Given the description of an element on the screen output the (x, y) to click on. 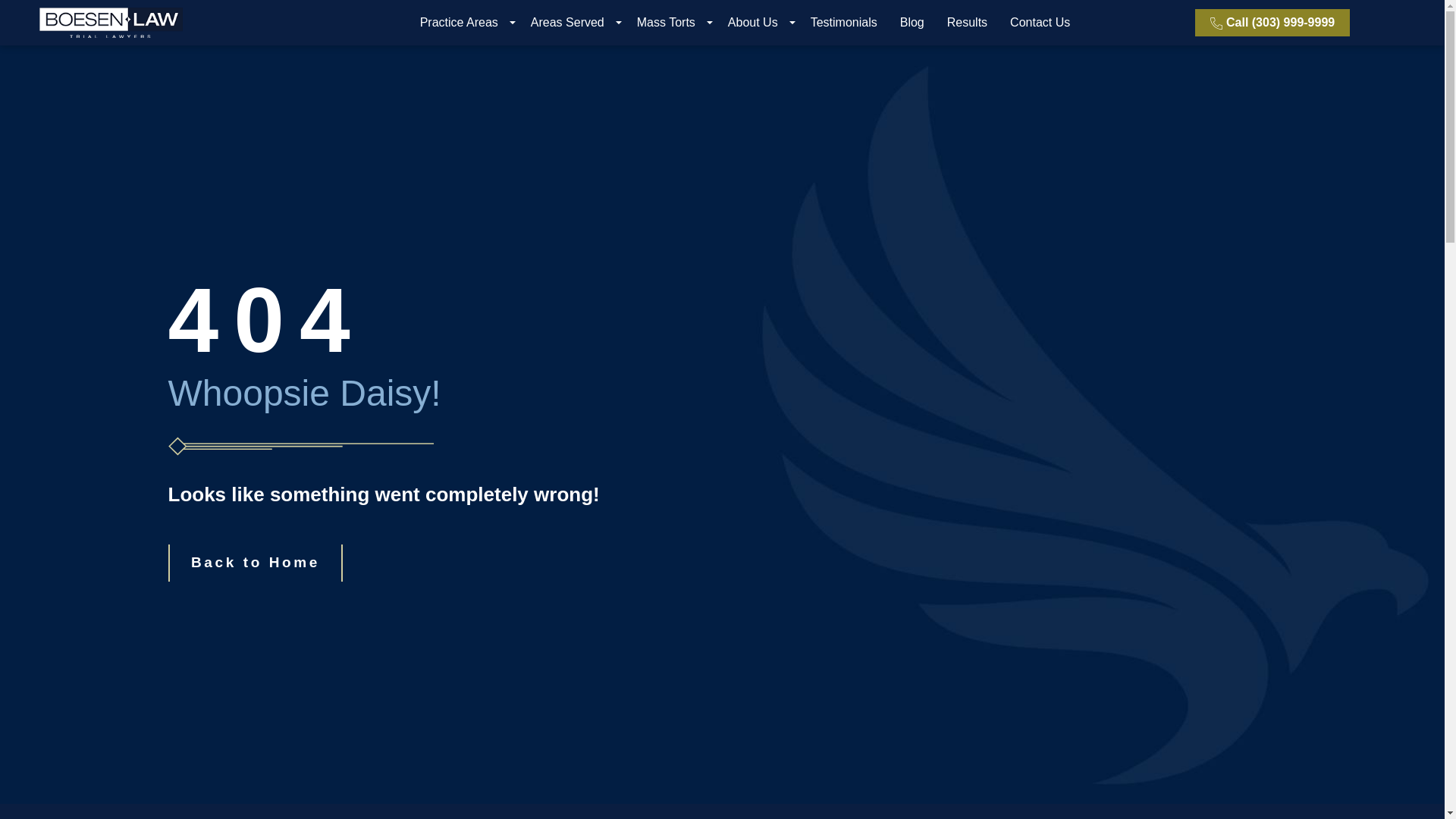
Practice Areas (463, 22)
Call Us Today (1272, 22)
Mass Torts (665, 22)
Practice Areas (458, 22)
Boesen Law (111, 22)
Back to Home (255, 562)
Areas Served (566, 22)
